Given the description of an element on the screen output the (x, y) to click on. 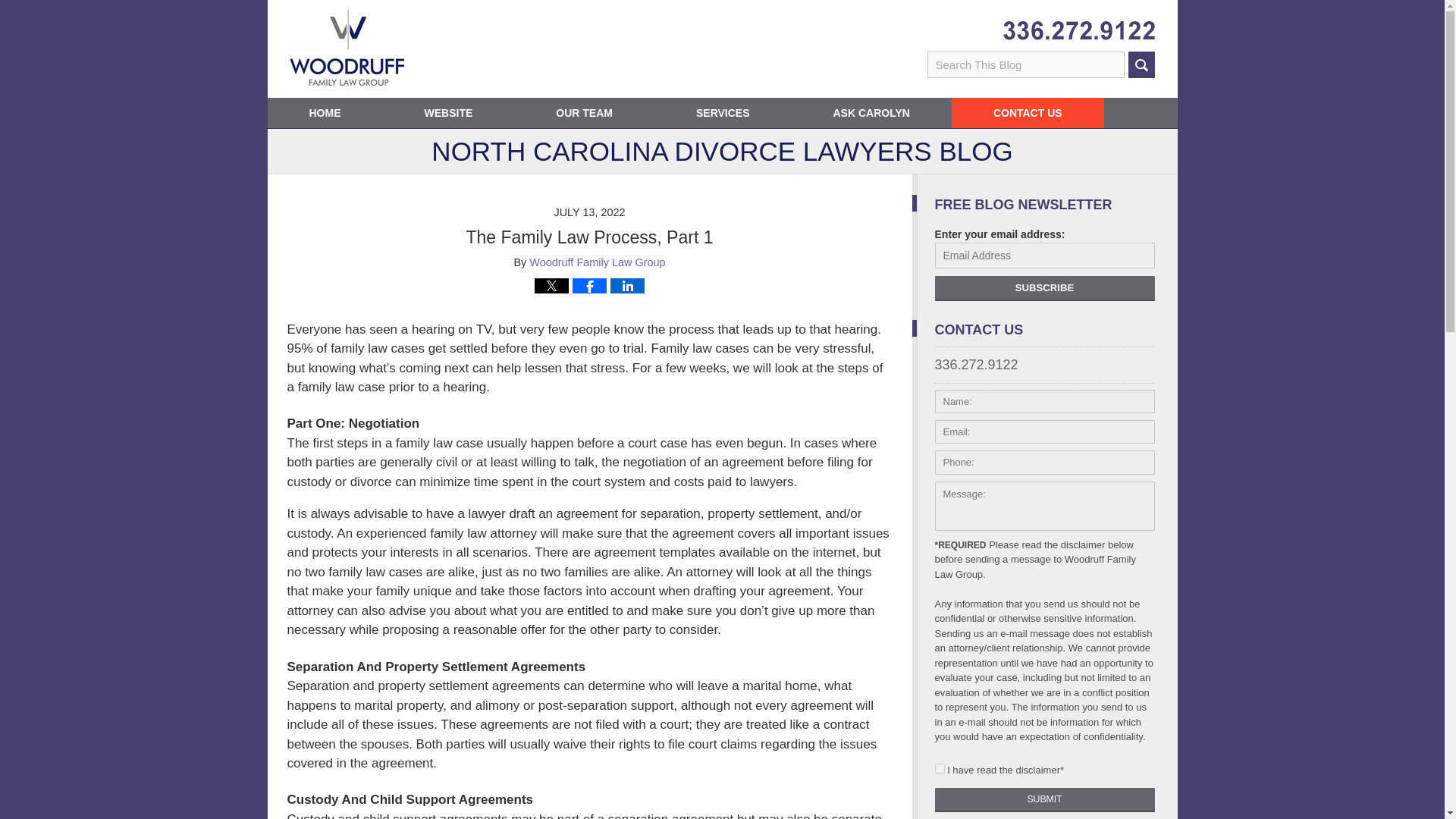
SERVICES (722, 112)
CONTACT US (1027, 112)
ASK CAROLYN (872, 112)
Published By Woodruff Family Law Group (1078, 30)
OUR TEAM (583, 112)
SUBMIT (1044, 799)
Woodruff Family Law Group (597, 262)
NORTH CAROLINA DIVORCE LAWYERS BLOG (720, 156)
HOME (323, 112)
WEBSITE (447, 112)
SUBSCRIBE (1044, 288)
SEARCH (1141, 64)
North Carolina Divorce Lawyers Blog (346, 47)
I have read the disclaimer (938, 768)
Please enter a valid phone number. (1044, 462)
